Given the description of an element on the screen output the (x, y) to click on. 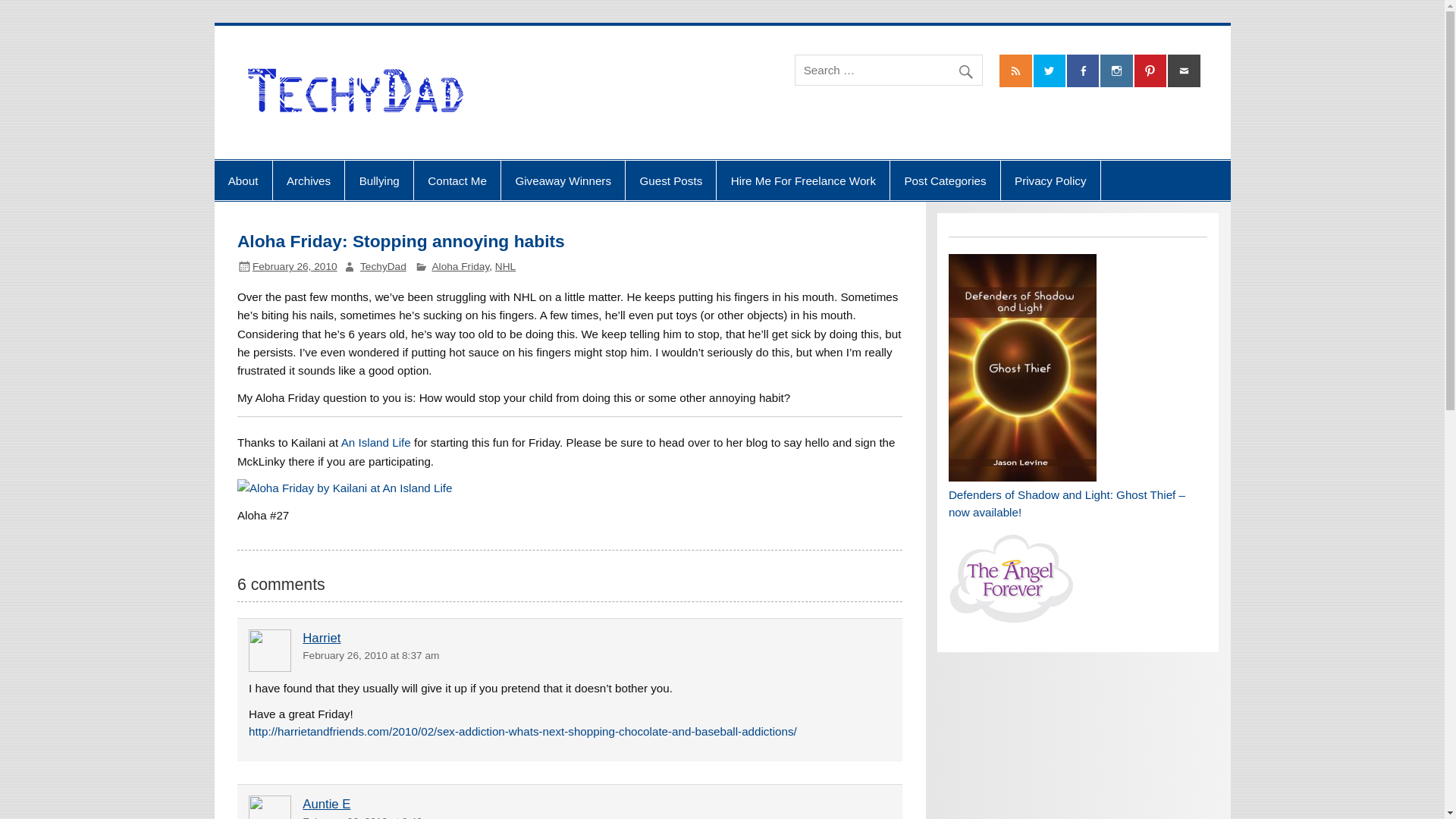
Guest Posts (671, 179)
ALT: Aloha Friday by Kailani at An Island Life (344, 488)
Bullying (379, 179)
Harriet (321, 637)
View all posts by TechyDad (382, 266)
TechyDad (555, 69)
Contact Me (456, 179)
Hire Me For Freelance Work (802, 179)
Post Categories (944, 179)
TechyDad (382, 266)
February 26, 2010 at 8:37 am (370, 655)
Giveaway Winners (562, 179)
NHL (505, 266)
February 26, 2010 at 8:46 am (370, 817)
Privacy Policy (1050, 179)
